Given the description of an element on the screen output the (x, y) to click on. 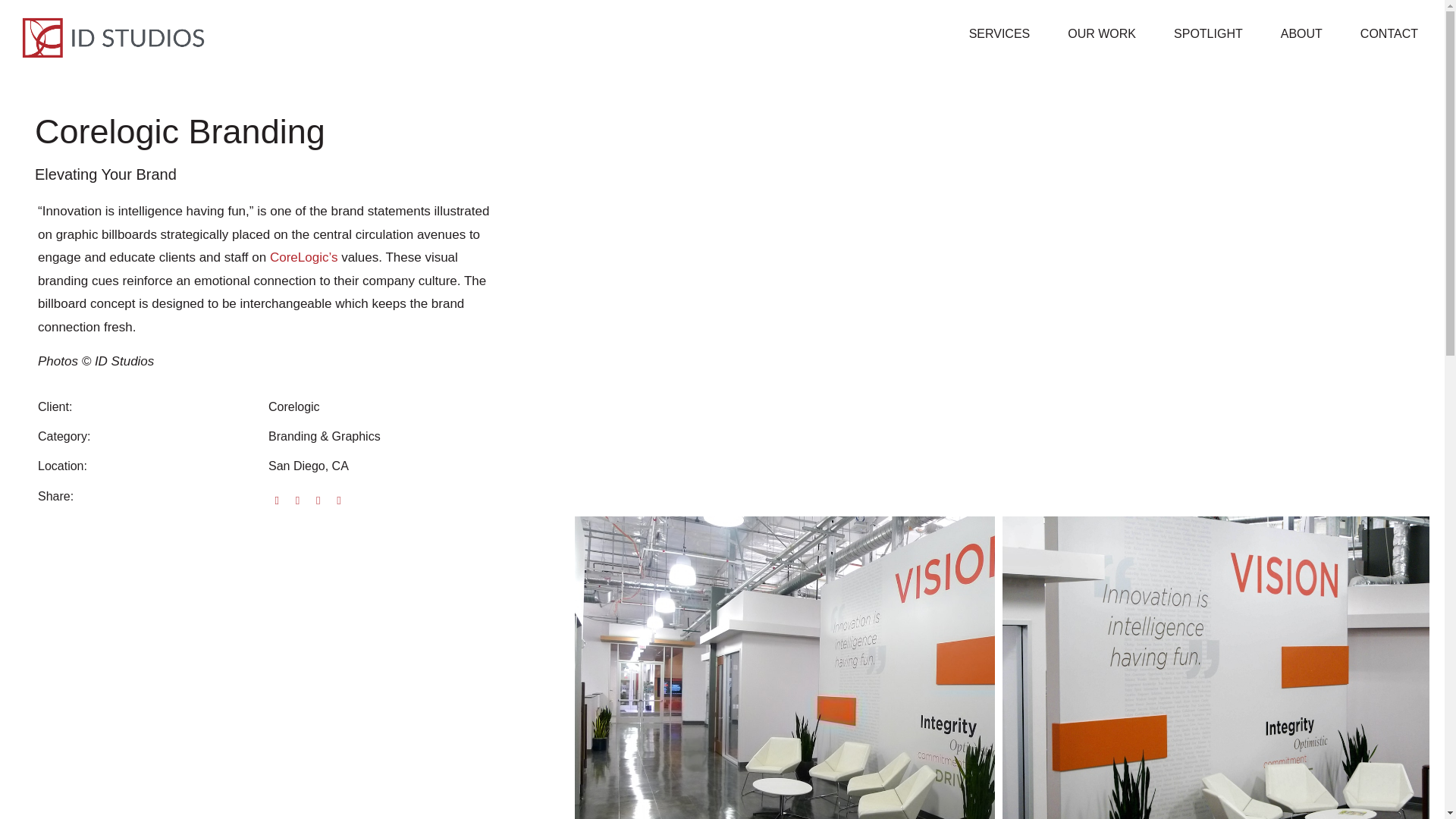
CONTACT (1388, 33)
OUR WORK (1101, 33)
ABOUT (1301, 33)
SPOTLIGHT (1208, 33)
SERVICES (999, 33)
